Given the description of an element on the screen output the (x, y) to click on. 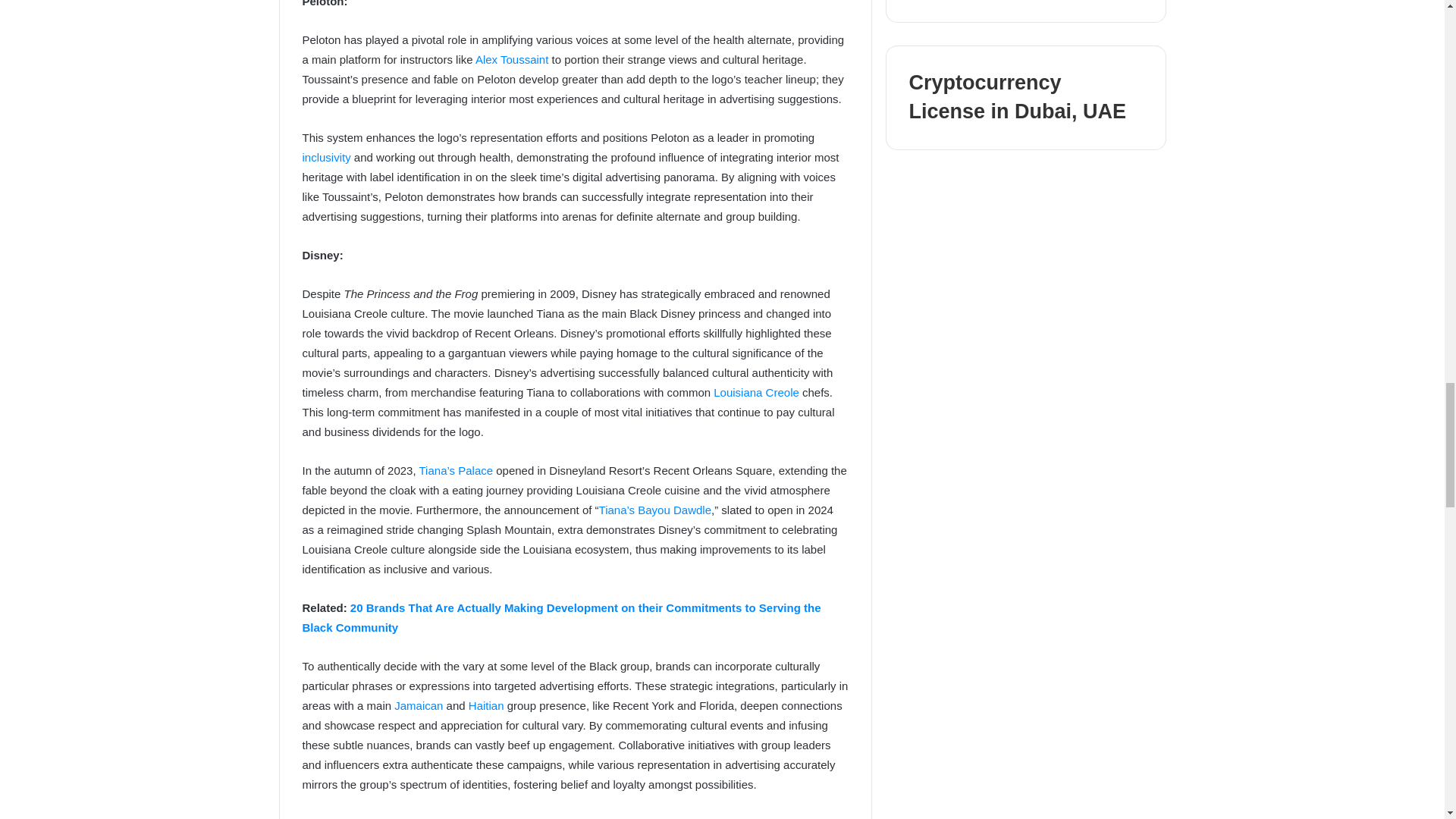
inclusivity (325, 156)
Alex Toussaint (512, 59)
Louisiana Creole (756, 391)
